Given the description of an element on the screen output the (x, y) to click on. 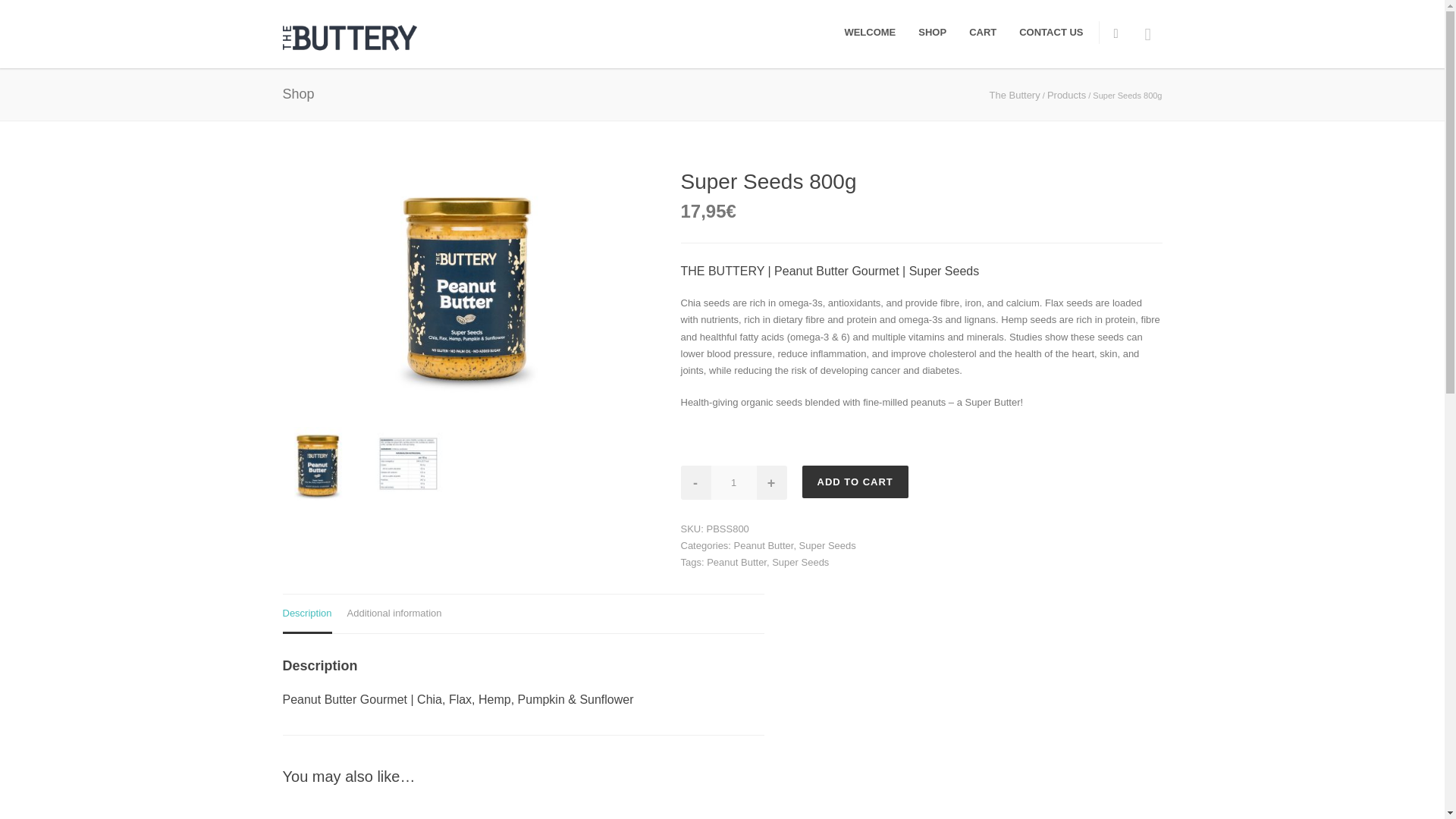
CART (982, 32)
CONTACT US (1050, 32)
ADD TO CART (855, 481)
SHOP (932, 32)
1 (734, 482)
The Buttery (1013, 94)
Description (306, 613)
- (696, 482)
Peanut Butter (736, 562)
WELCOME (869, 32)
Super Seeds (799, 562)
SuperSeeds00-web-new (465, 289)
Additional information (394, 613)
SuperSeeds800 (318, 463)
Products (1066, 94)
